Given the description of an element on the screen output the (x, y) to click on. 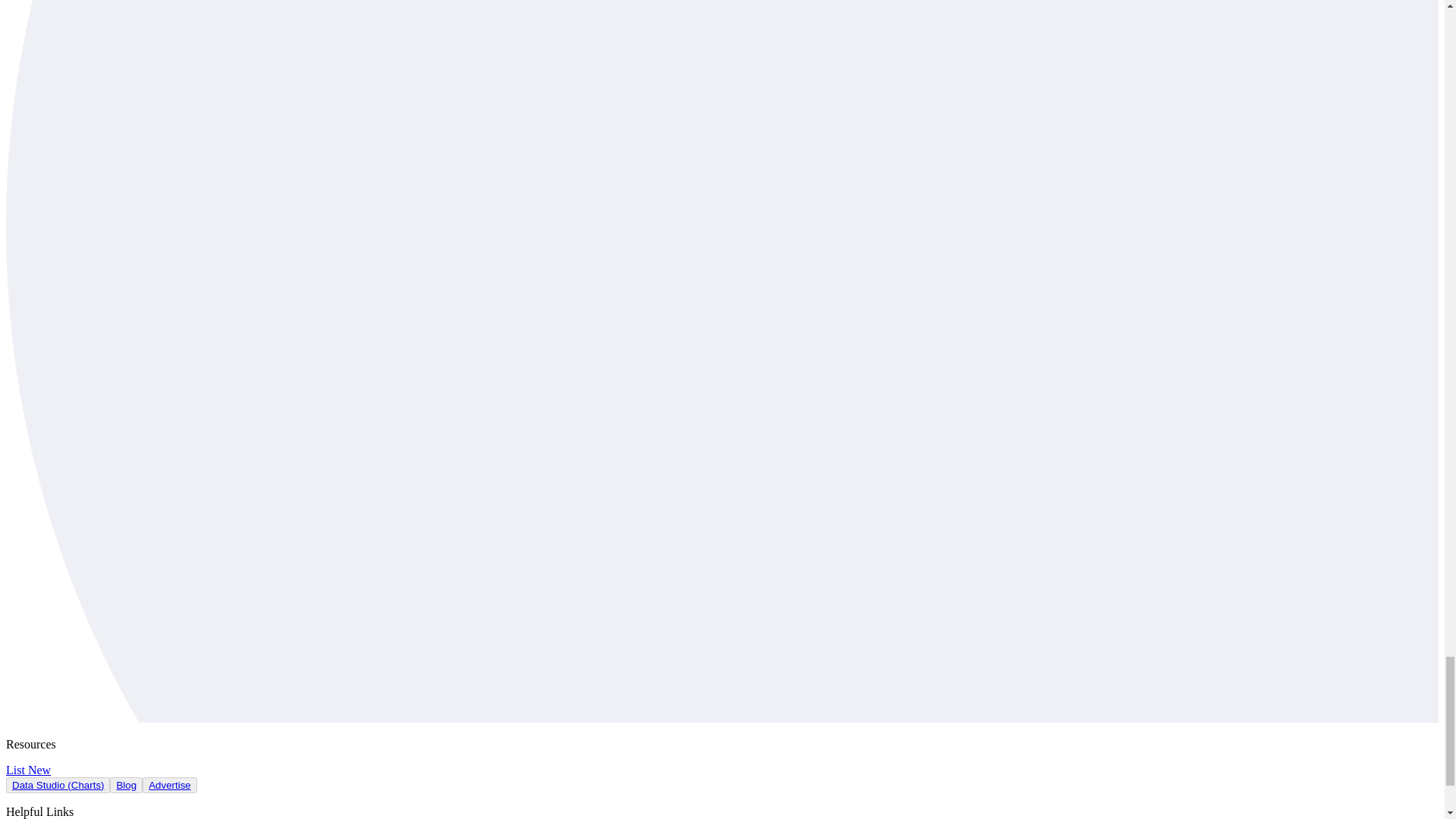
Blog (126, 785)
List New (27, 769)
Blog (126, 785)
Advertise (169, 785)
Advertise (169, 785)
